Given the description of an element on the screen output the (x, y) to click on. 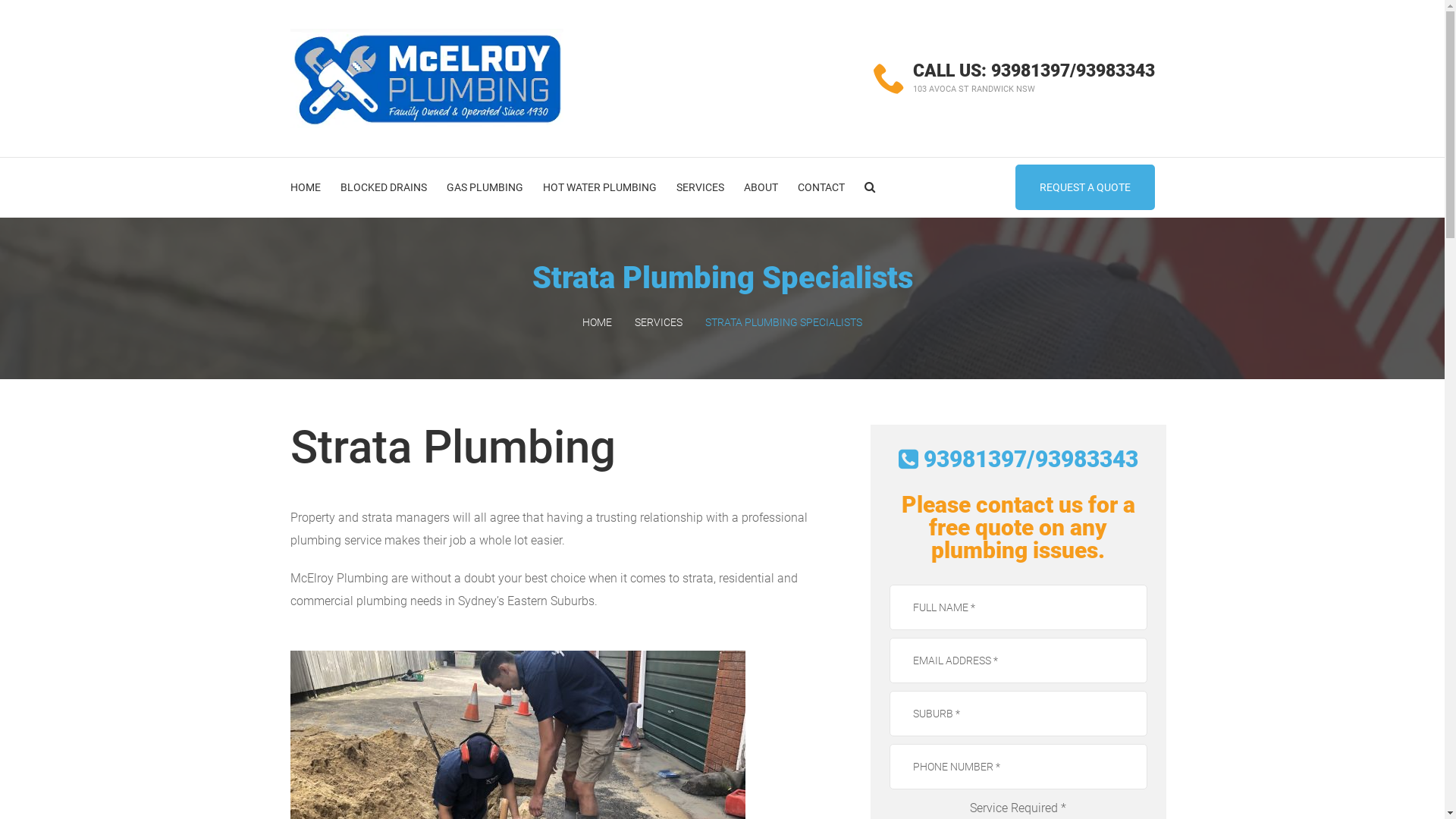
SERVICES Element type: text (700, 186)
CONTACT Element type: text (820, 186)
SERVICES Element type: text (658, 322)
ABOUT Element type: text (760, 186)
BLOCKED DRAINS Element type: text (382, 186)
HOME Element type: text (304, 186)
REQUEST A QUOTE Element type: text (1084, 187)
CALL US: 93981397/93983343 Element type: text (1033, 70)
93981397/93983343 Element type: text (1017, 458)
GAS PLUMBING Element type: text (483, 186)
HOT WATER PLUMBING Element type: text (599, 186)
HOME Element type: text (596, 322)
